Given the description of an element on the screen output the (x, y) to click on. 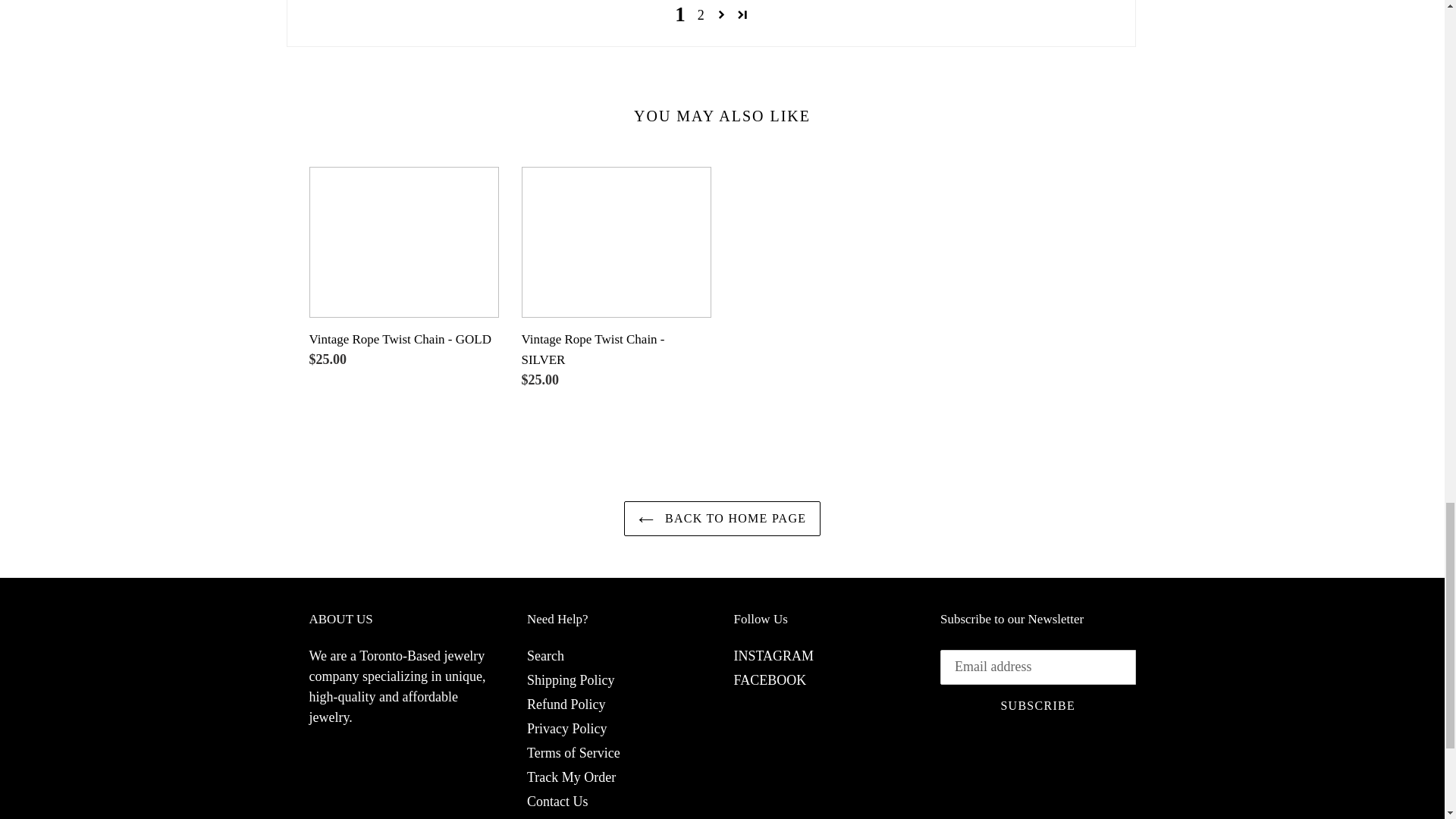
Vintage Rope Twist Chain - GOLD (403, 271)
Shipping Policy (570, 679)
BACK TO HOME PAGE (722, 518)
Refund Policy (566, 703)
Privacy Policy (567, 728)
Search (545, 655)
2 (700, 14)
